Given the description of an element on the screen output the (x, y) to click on. 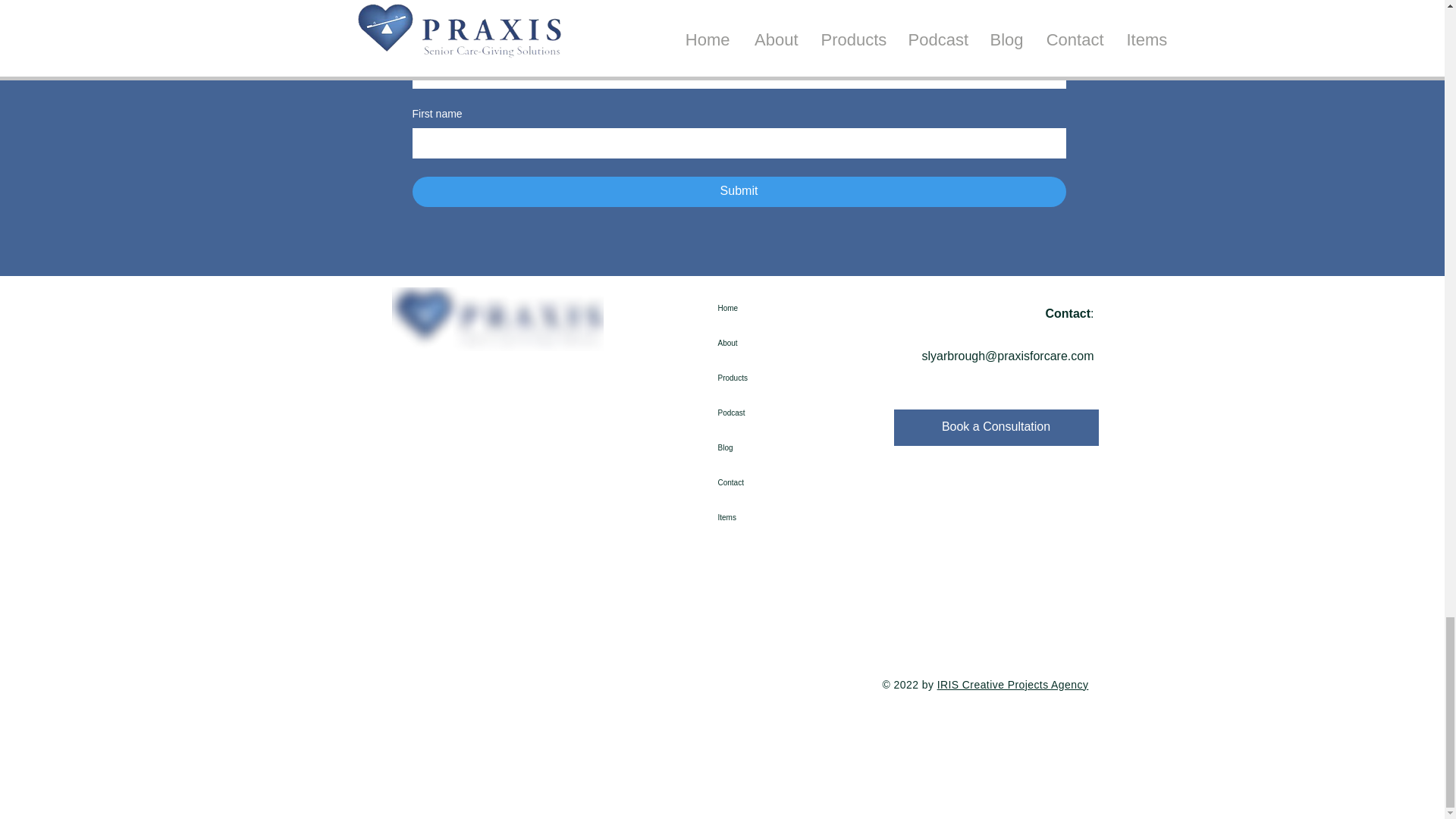
About (745, 343)
Submit (738, 191)
Home (745, 308)
